Given the description of an element on the screen output the (x, y) to click on. 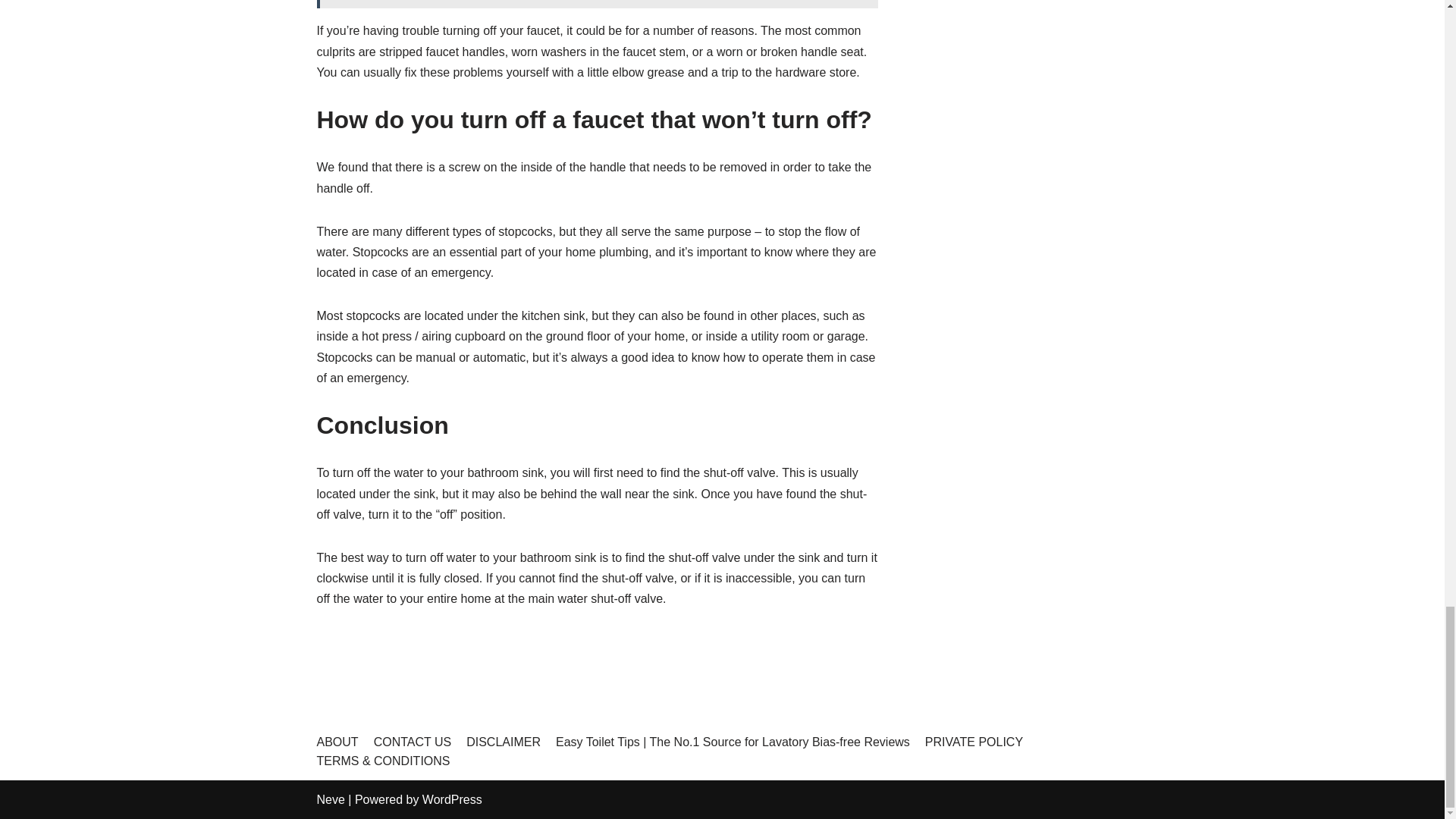
CONTACT US (412, 742)
See also  How long to run water after drano? (597, 4)
ABOUT (337, 742)
DISCLAIMER (502, 742)
PRIVATE POLICY (973, 742)
